Given the description of an element on the screen output the (x, y) to click on. 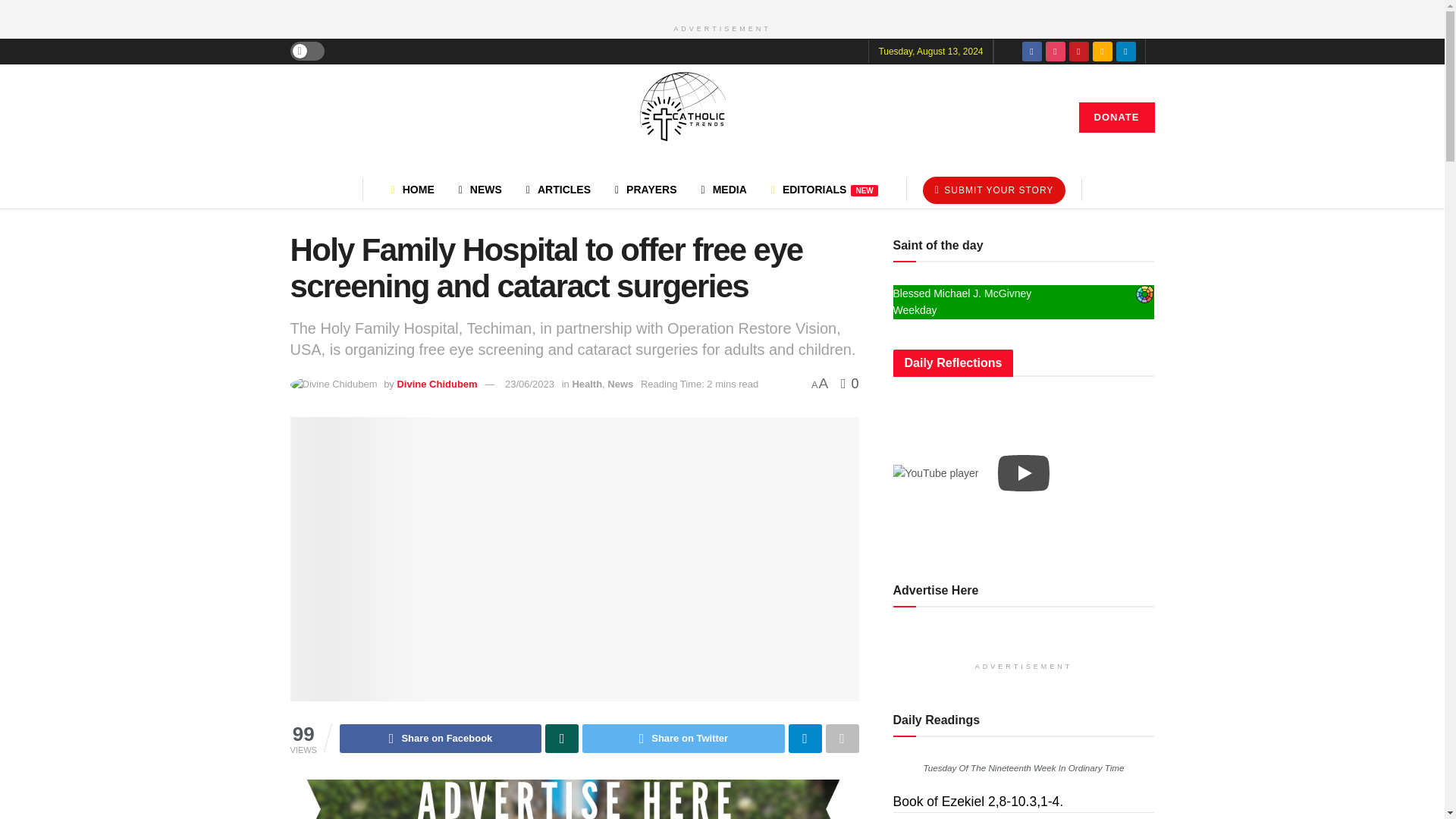
MEDIA (723, 189)
PRAYERS (645, 189)
SUBMIT YOUR STORY (994, 189)
DONATE (1116, 117)
HOME (412, 189)
NEWS (479, 189)
EDITORIALSNEW (823, 189)
ARTICLES (557, 189)
